Given the description of an element on the screen output the (x, y) to click on. 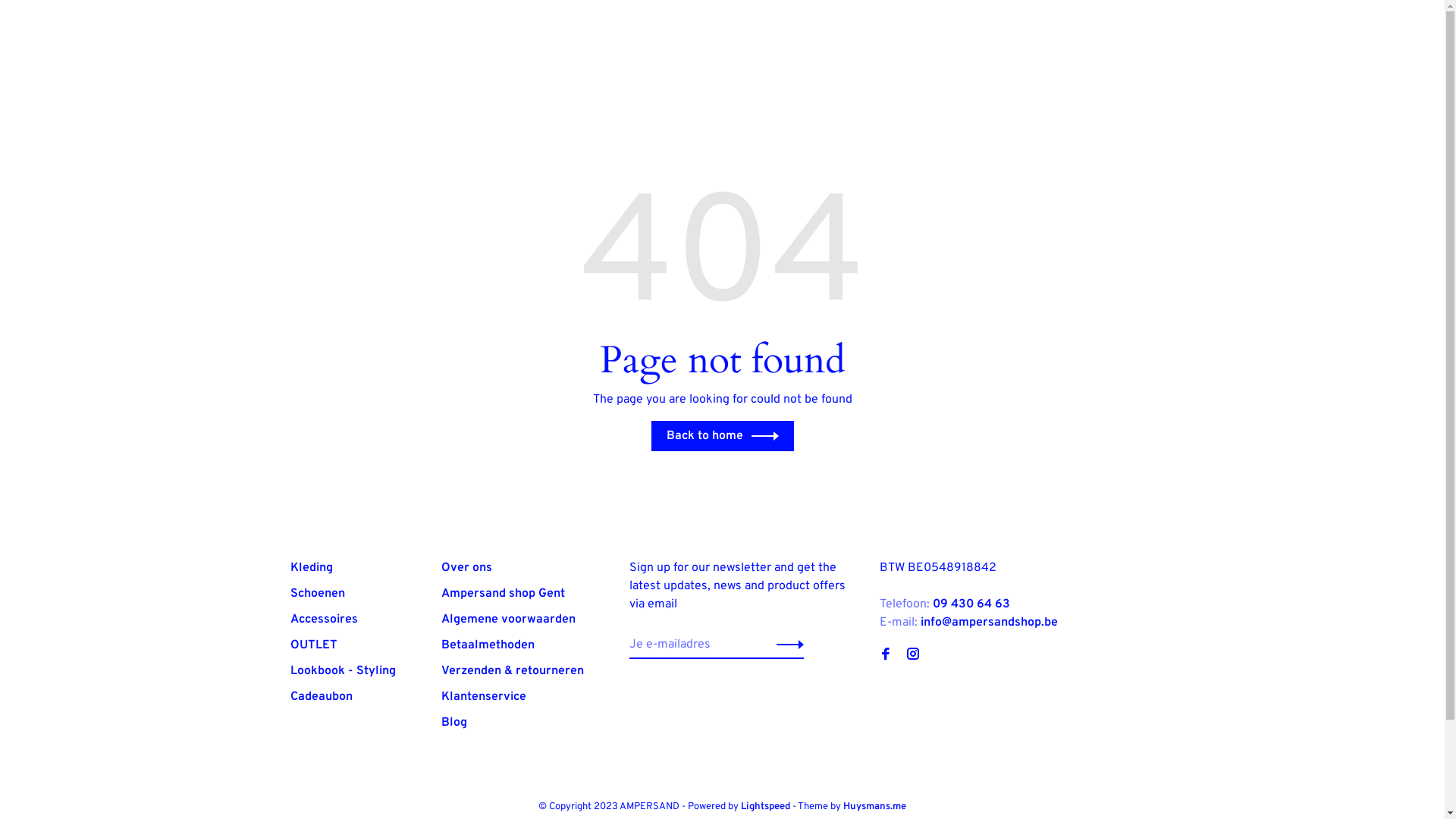
Instagram AMPERSAND Element type: hover (912, 655)
Cadeaubon Element type: text (320, 696)
Lookbook - Styling Element type: text (342, 670)
Betaalmethoden Element type: text (487, 644)
E-mail: info@ampersandshop.be Element type: text (968, 622)
Ampersand shop Gent Element type: text (502, 593)
Blog Element type: text (454, 722)
Kleding Element type: text (310, 567)
Algemene voorwaarden Element type: text (508, 619)
Huysmans.me Element type: text (874, 806)
Over ons Element type: text (466, 567)
Schoenen Element type: text (316, 593)
Verzenden & retourneren Element type: text (512, 670)
Facebook Element type: hover (885, 655)
Accessoires Element type: text (323, 619)
Klantenservice Element type: text (483, 696)
OUTLET Element type: text (312, 644)
Lightspeed Element type: text (765, 806)
Abonneer Element type: hover (785, 644)
Telefoon: 09 430 64 63 Element type: text (944, 603)
Back to home Element type: text (721, 435)
